Given the description of an element on the screen output the (x, y) to click on. 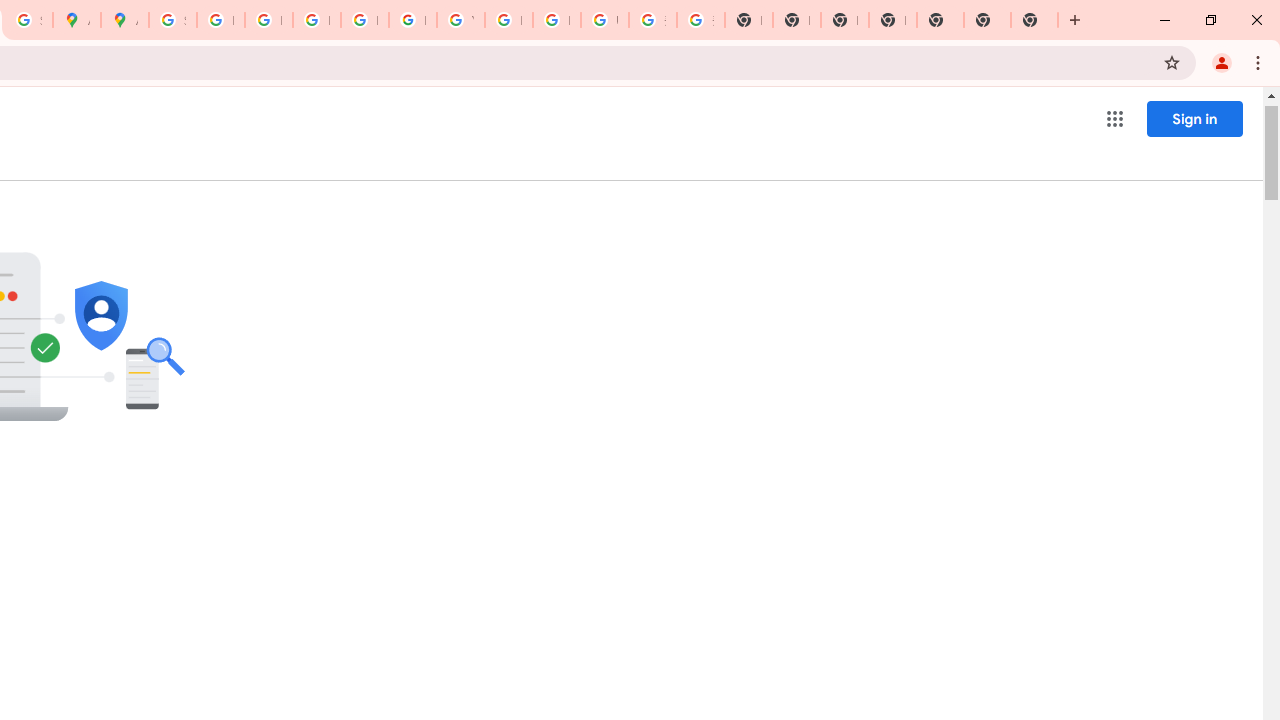
Sign in - Google Accounts (172, 20)
New Tab (892, 20)
YouTube (460, 20)
New Tab (1034, 20)
